Given the description of an element on the screen output the (x, y) to click on. 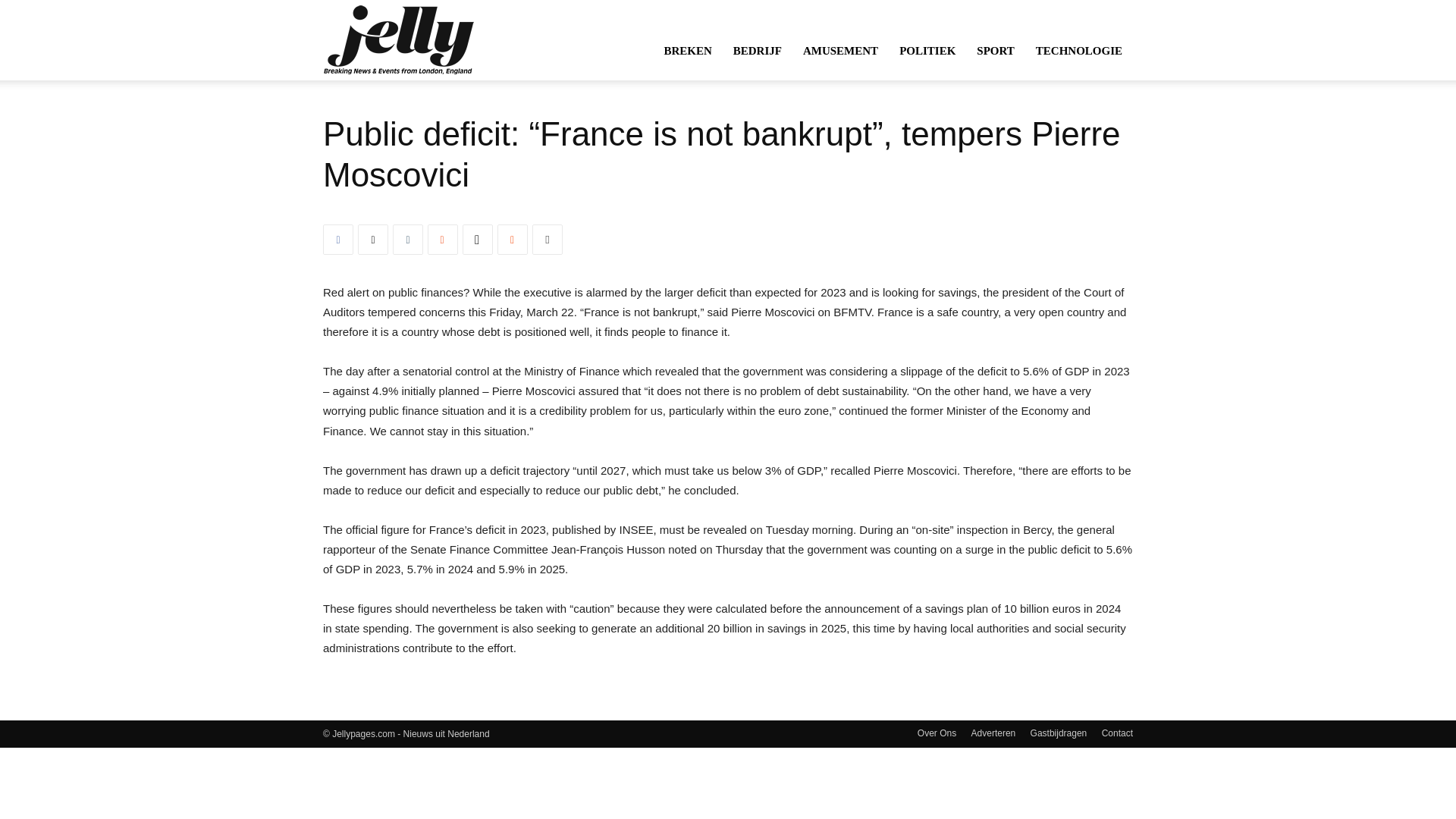
SPORT (995, 50)
TECHNOLOGIE (1078, 50)
BREKEN (687, 50)
Digg (478, 239)
POLITIEK (927, 50)
Facebook (338, 239)
Twitter (373, 239)
Tumblr (408, 239)
Gastbijdragen (1058, 733)
ReddIt (512, 239)
Over Ons (936, 733)
Contact (1117, 733)
AMUSEMENT (840, 50)
Afdrukken (547, 239)
Jelly Nieuws (398, 39)
